Given the description of an element on the screen output the (x, y) to click on. 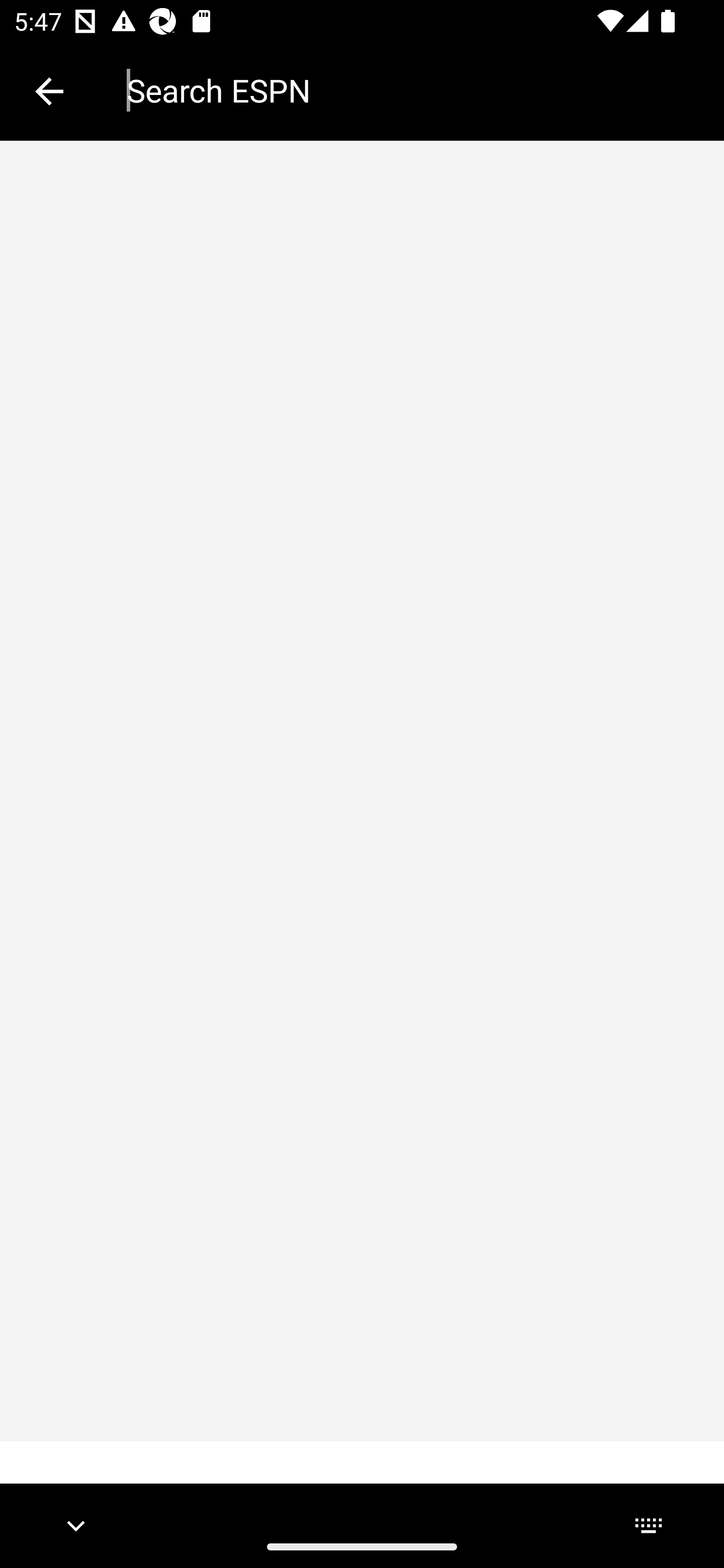
Collapse (49, 91)
Search ESPN (411, 90)
